Given the description of an element on the screen output the (x, y) to click on. 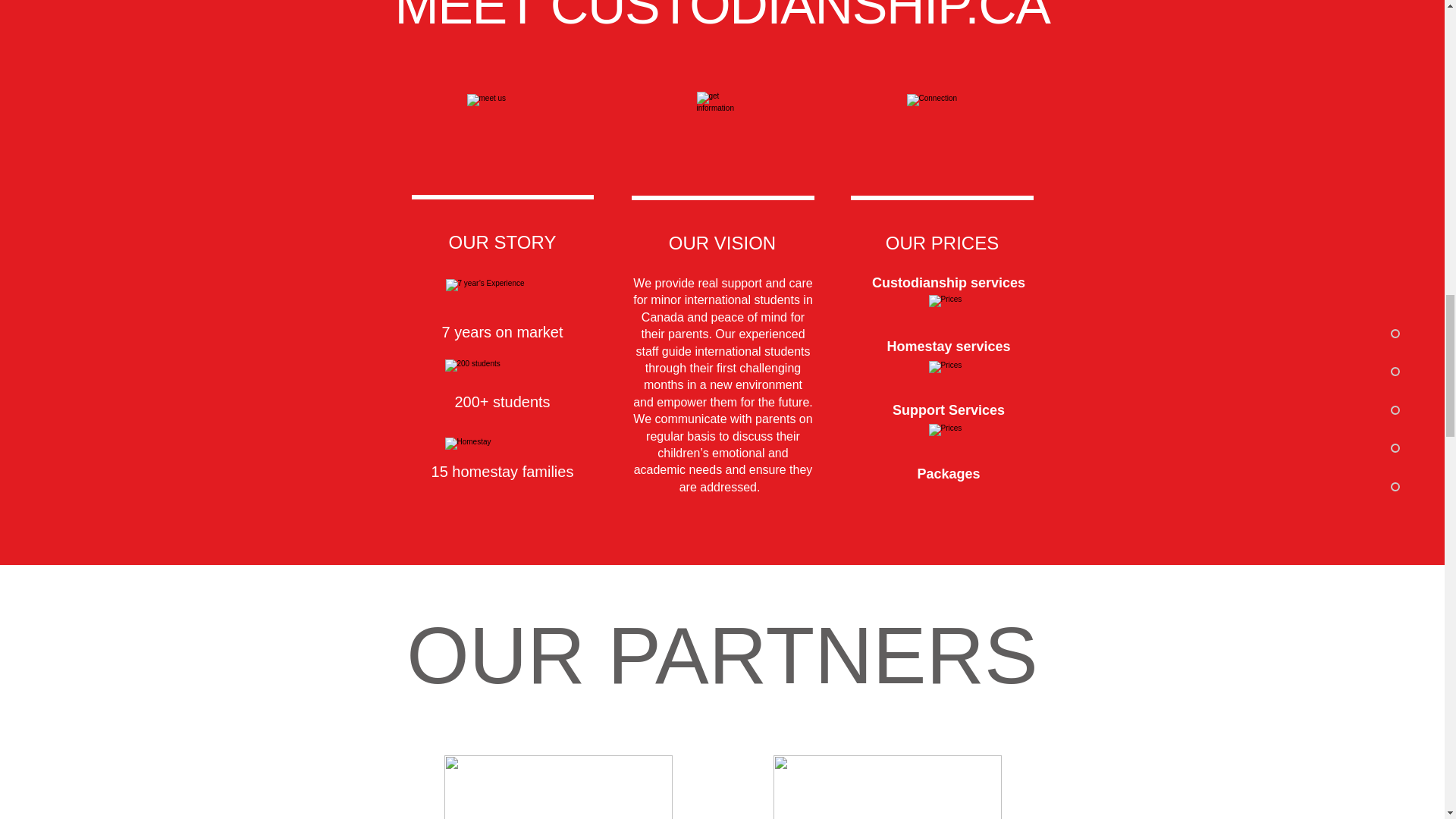
Custodianship services (948, 282)
Packages (948, 473)
Support Services (948, 409)
Homestay services (948, 346)
